Given the description of an element on the screen output the (x, y) to click on. 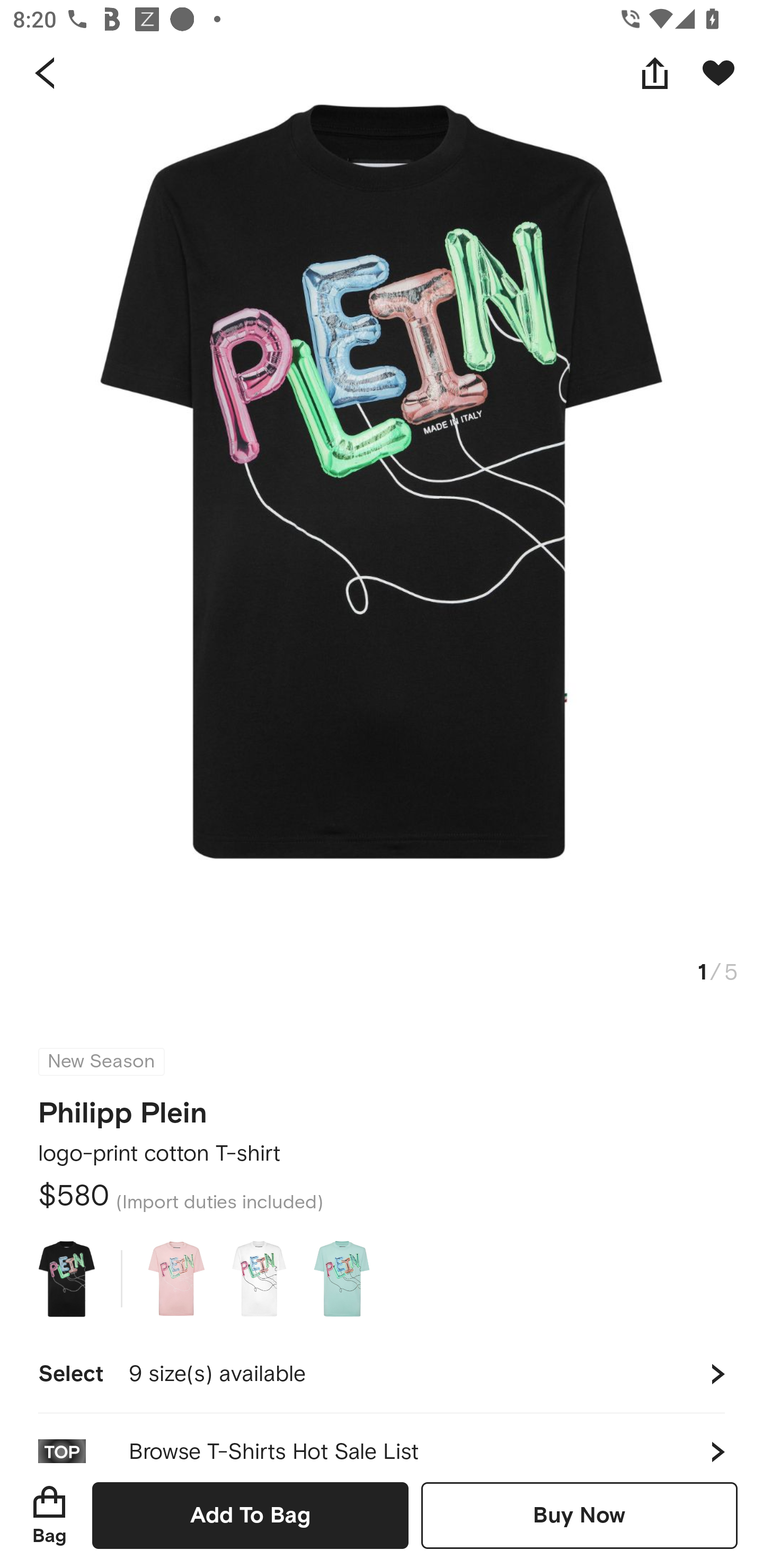
Philipp Plein (122, 1107)
Select 9 size(s) available (381, 1373)
Browse T-Shirts Hot Sale List (381, 1438)
Bag (49, 1515)
Add To Bag (250, 1515)
Buy Now (579, 1515)
